Given the description of an element on the screen output the (x, y) to click on. 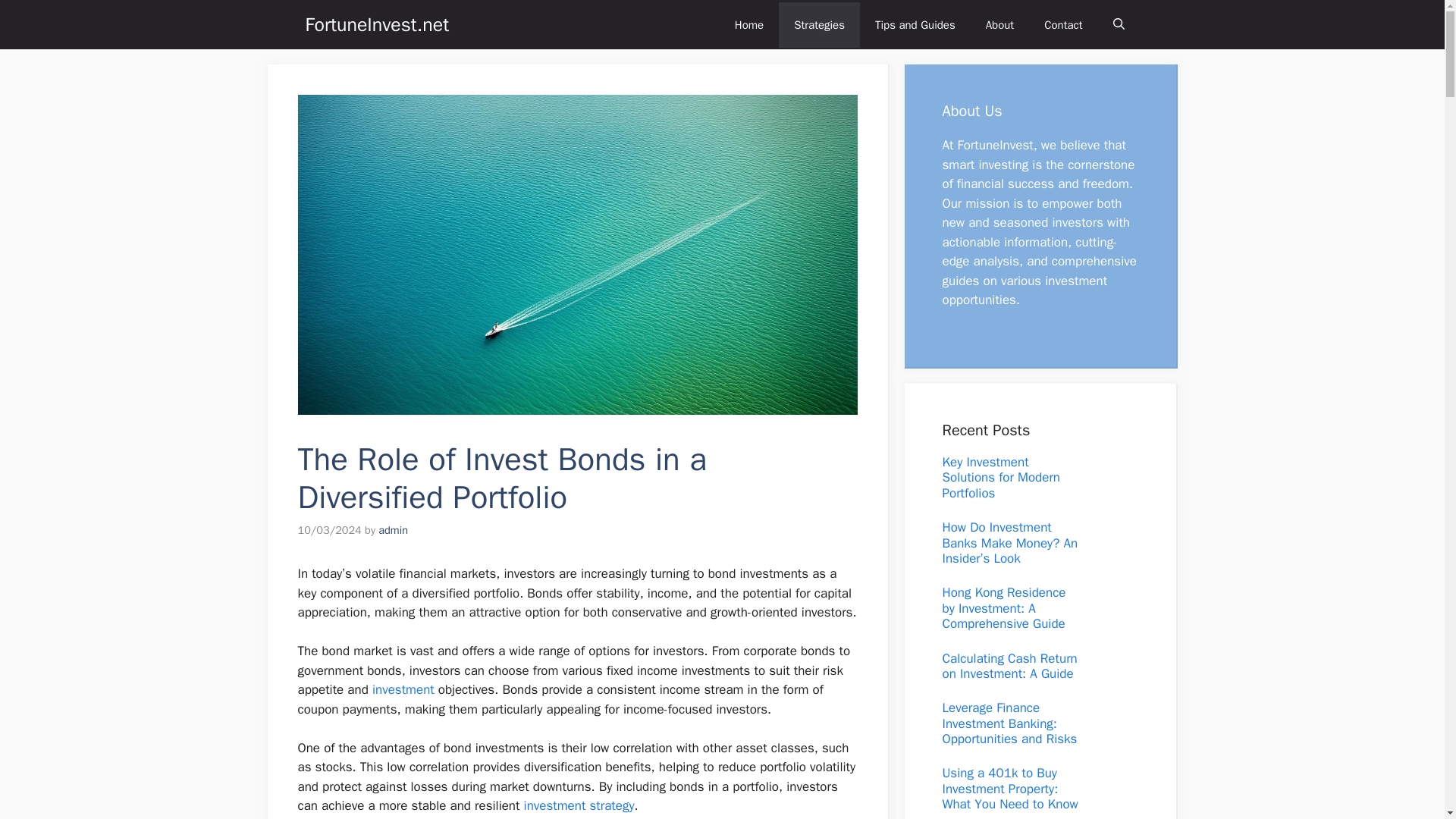
Leverage Finance Investment Banking: Opportunities and Risks (1009, 723)
investment (402, 689)
investment strategy (579, 805)
Key Investment Solutions for Modern Portfolios (1000, 477)
Home (748, 23)
Contact (1063, 23)
investment (402, 689)
Strategies (819, 23)
FortuneInvest.net (376, 24)
admin (392, 530)
